Given the description of an element on the screen output the (x, y) to click on. 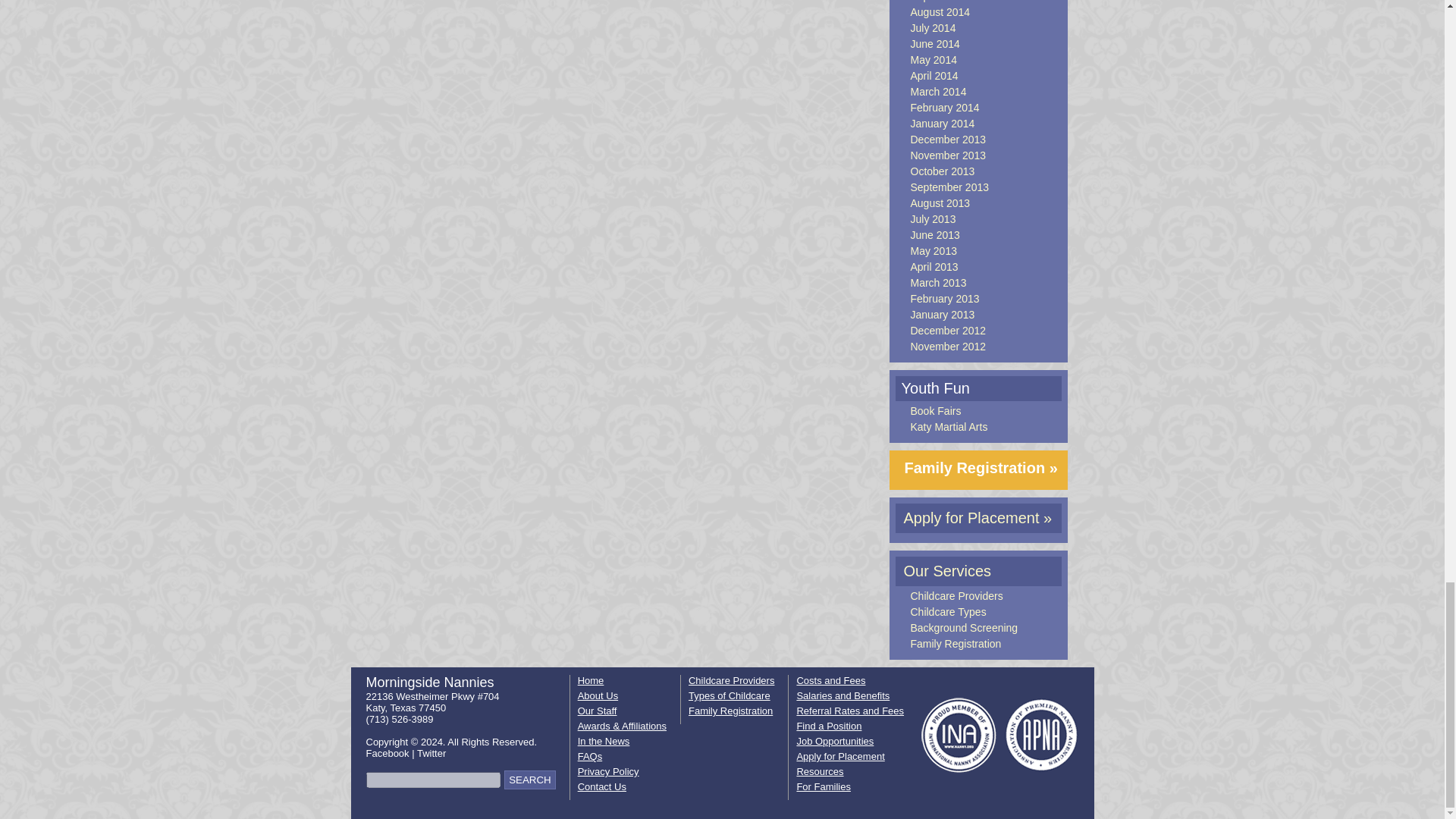
Search (529, 779)
INA (958, 735)
APNA (1041, 735)
